Given the description of an element on the screen output the (x, y) to click on. 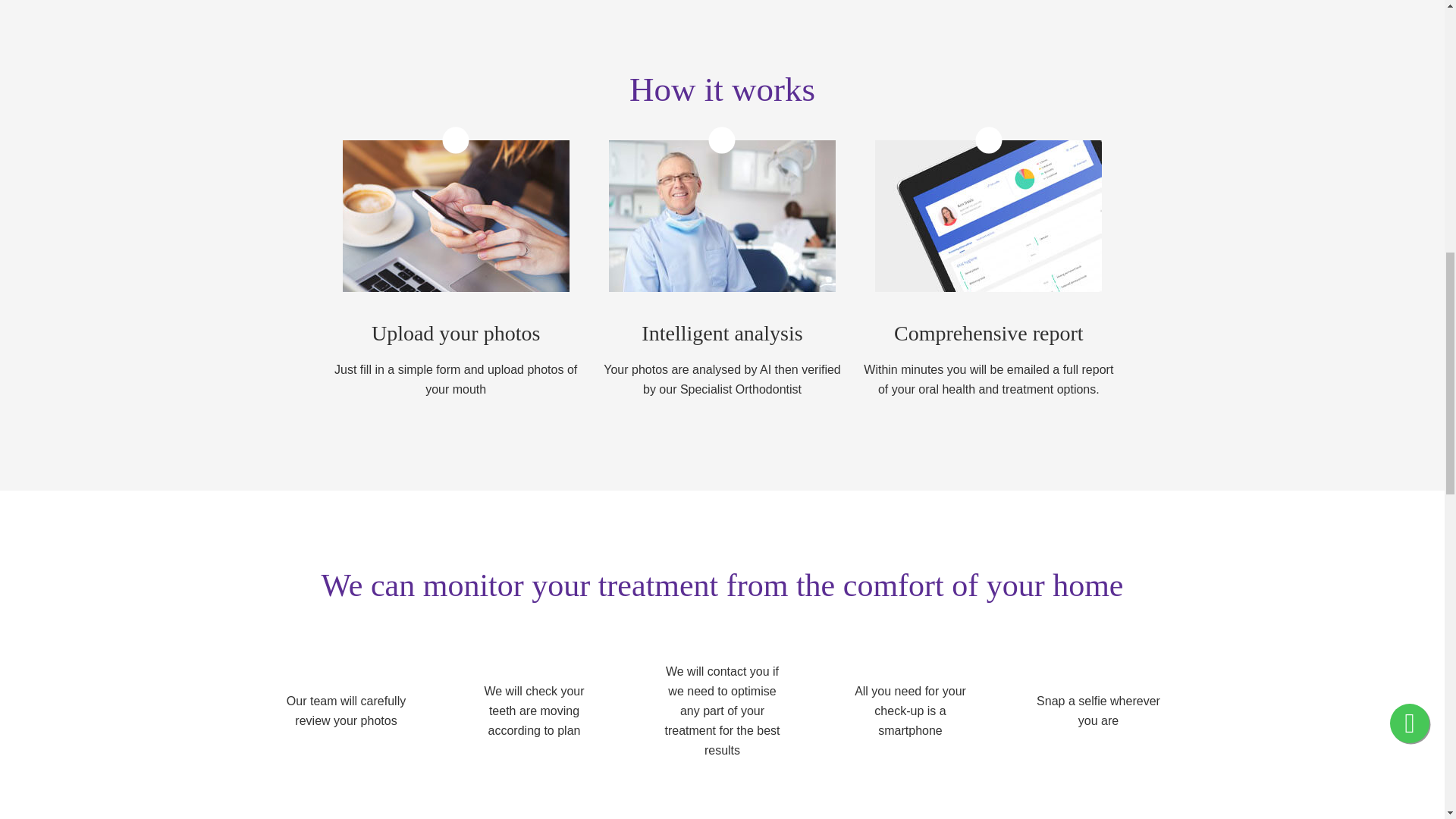
Intelligent analysis (721, 215)
Smilemate (455, 215)
Comprehensive report (988, 215)
